Given the description of an element on the screen output the (x, y) to click on. 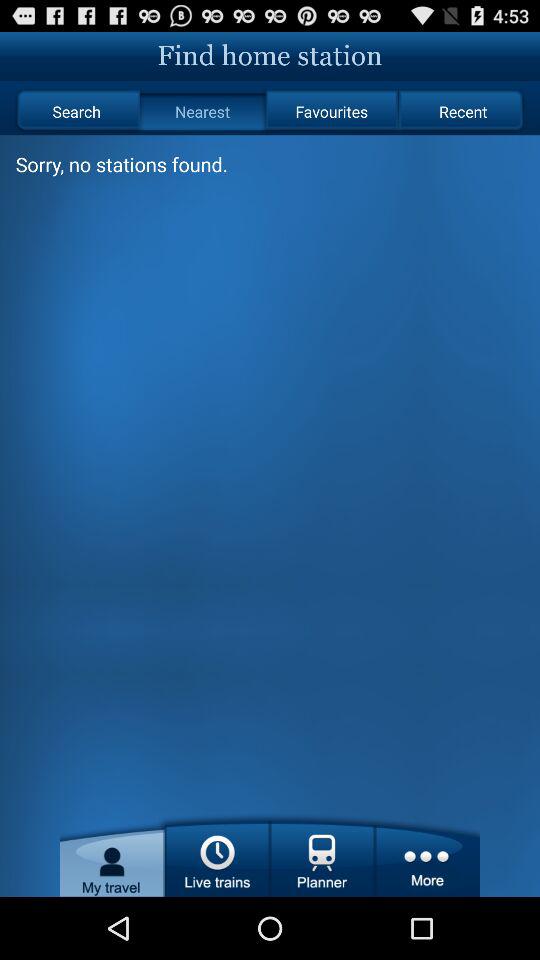
click item below the sorry no stations app (112, 854)
